Given the description of an element on the screen output the (x, y) to click on. 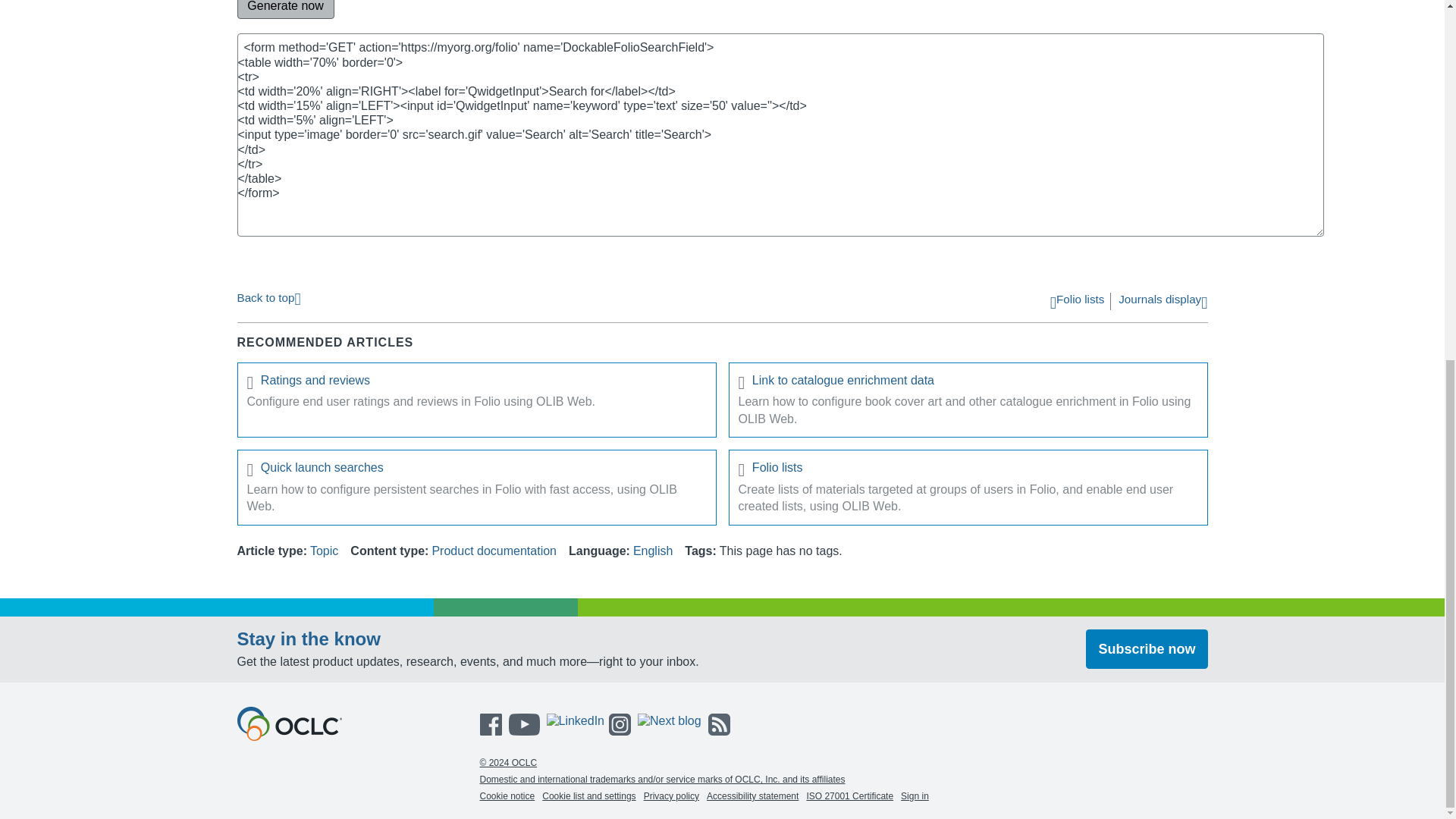
Link to catalogue enrichment data (968, 382)
Quick launch searches (476, 470)
Journals display (1162, 302)
Folio lists (968, 470)
Journals display (1162, 302)
Back to top (267, 296)
Folio lists (1077, 302)
Ratings and reviews (476, 382)
Click here to generate the html for your page (284, 9)
Generate now (284, 9)
Jump back to top of this article (267, 296)
Topic (323, 550)
Folio lists (1077, 302)
